Given the description of an element on the screen output the (x, y) to click on. 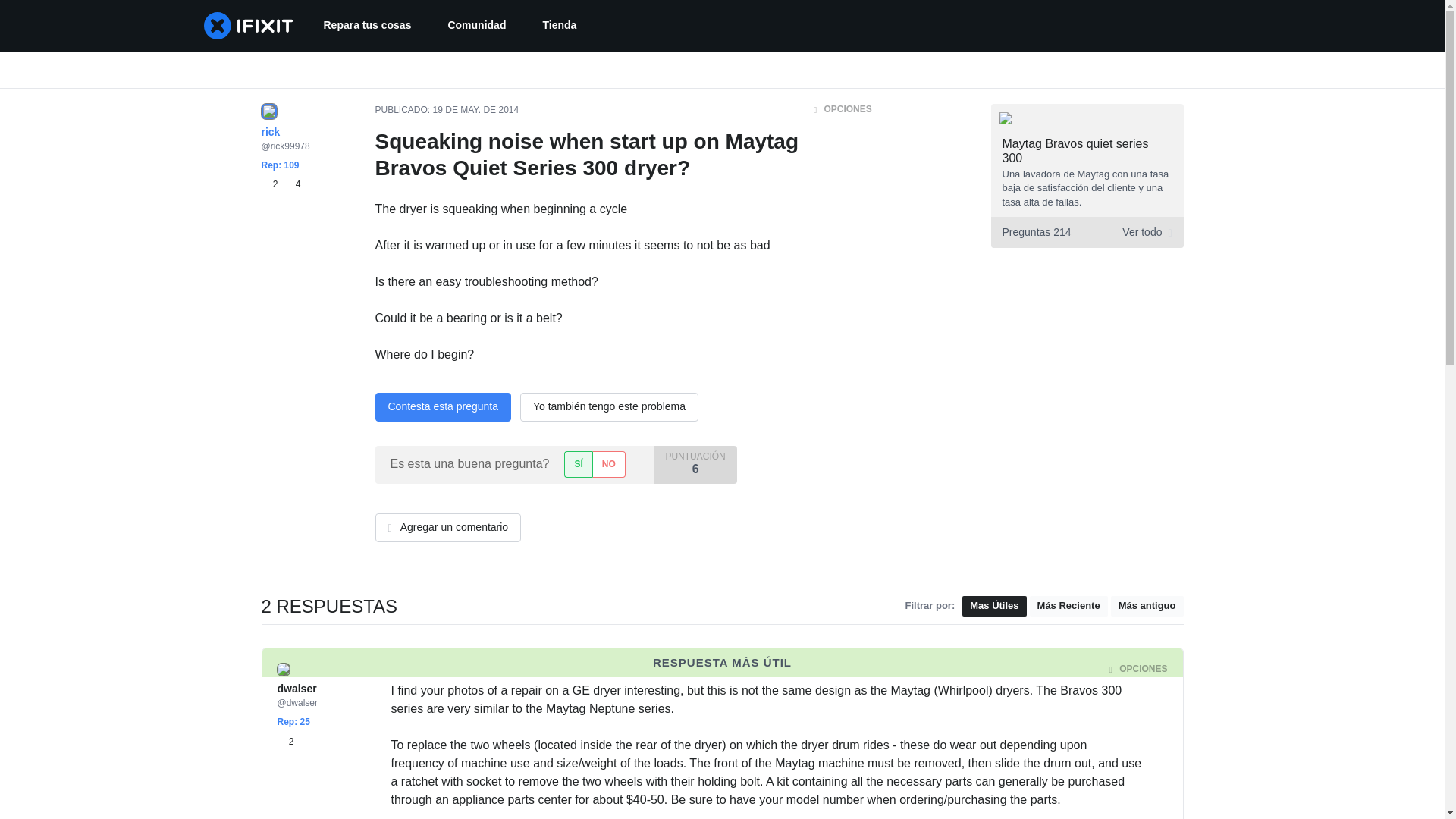
2 insignias de Bronce (286, 741)
PUBLICADO: 7 DE ABR. DE 2017 (460, 669)
Maytag Bravos quiet series 300 (1075, 150)
Fri, 07 Apr 2017 20:46:39 -0700 (488, 669)
PUBLICADO: 19 DE MAY. DE 2014 (446, 109)
Mon, 19 May 2014 15:12:31 -0700 (475, 109)
2 (1086, 232)
2 insignias de Bronce (286, 741)
Repara tus cosas (271, 184)
NO (366, 25)
Tienda (609, 464)
Contesta esta pregunta (559, 25)
2 4 (442, 407)
Agregar un comentario (279, 184)
